Given the description of an element on the screen output the (x, y) to click on. 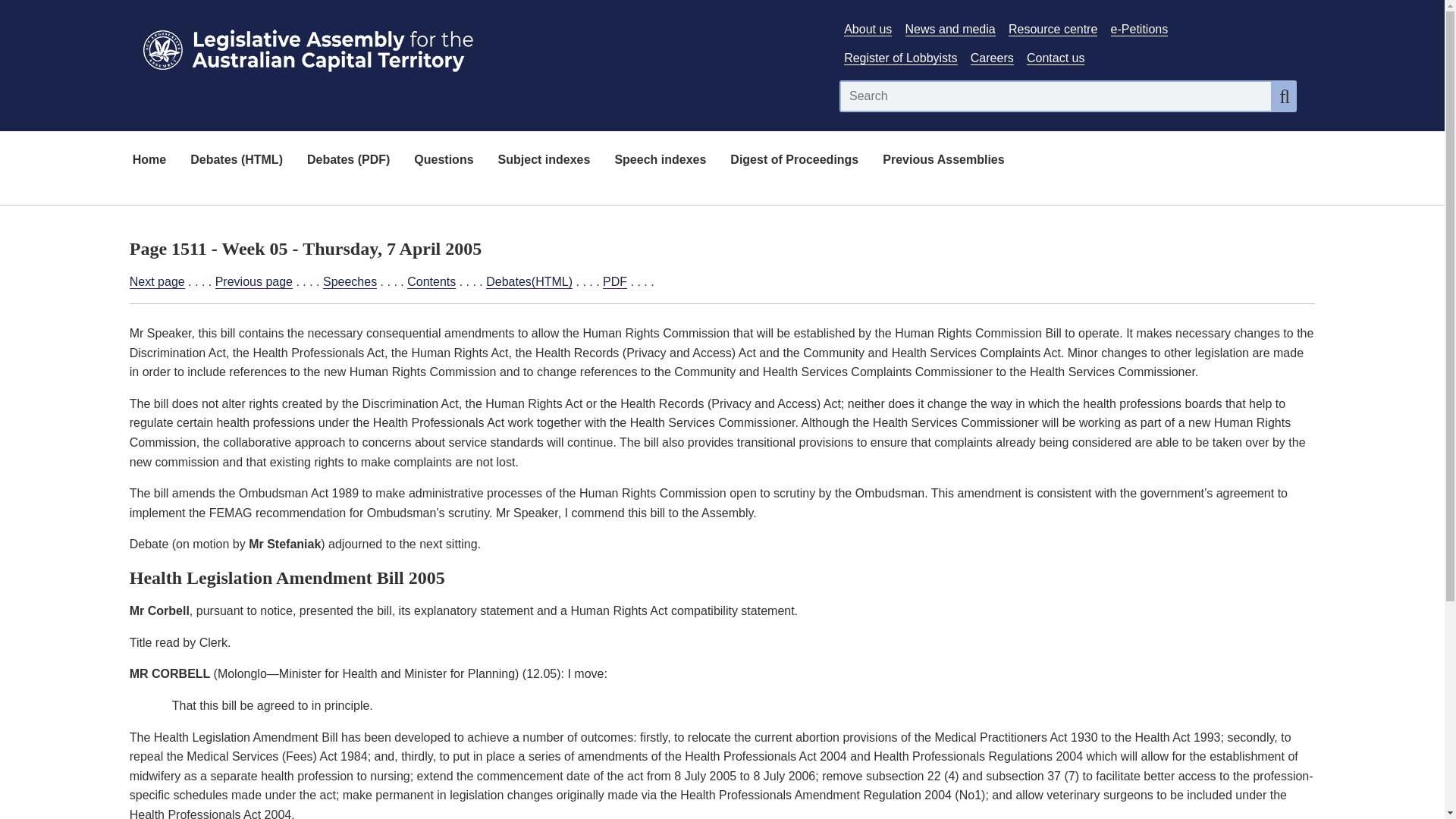
News and media (950, 29)
Contents (431, 282)
Contact us (1055, 58)
Home (148, 160)
Next page (156, 282)
Link to Homepage (475, 46)
Previous page (253, 282)
Link to Resource centre (1053, 29)
Speech indexes (659, 160)
Speeches (350, 282)
